Given the description of an element on the screen output the (x, y) to click on. 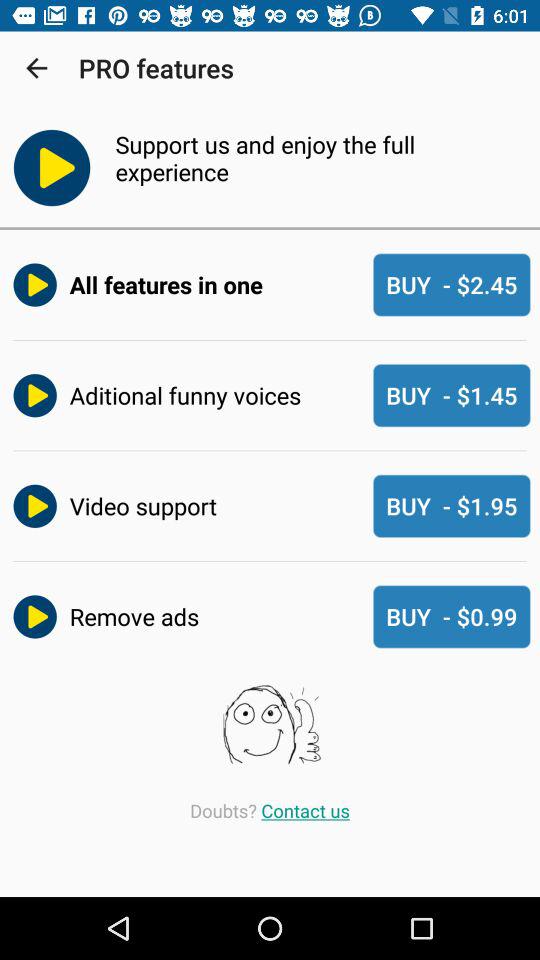
choose item next to the pro features item (36, 68)
